Given the description of an element on the screen output the (x, y) to click on. 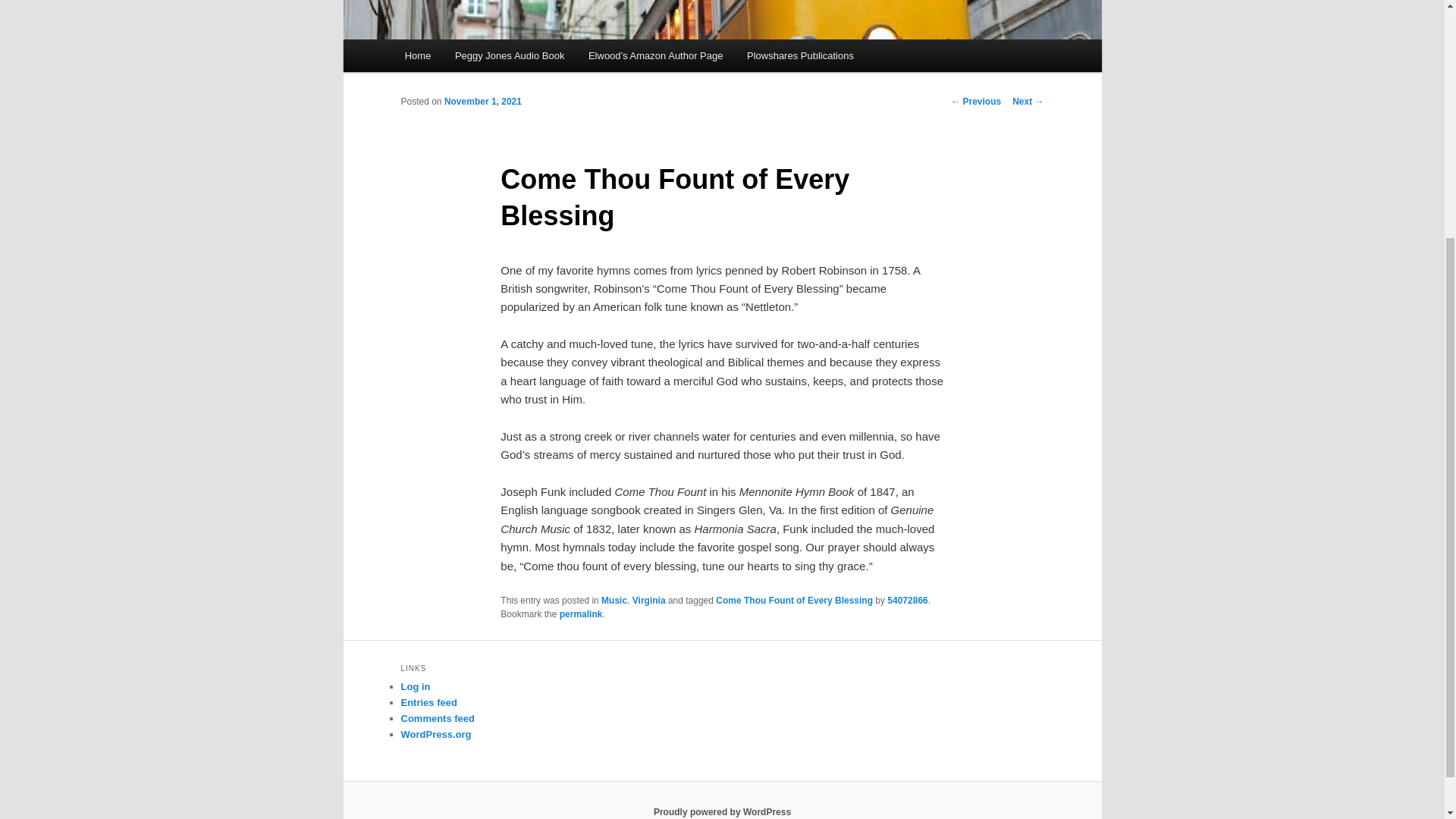
Virginia (648, 600)
11:35 am (482, 101)
54072866 (906, 600)
Permalink to Come Thou Fount of Every Blessing (580, 614)
Plowshares Publications (799, 55)
Semantic Personal Publishing Platform (721, 811)
WordPress.org (435, 734)
Peggy Jones Audio Book (509, 55)
Proudly powered by WordPress (721, 811)
Music (614, 600)
